Given the description of an element on the screen output the (x, y) to click on. 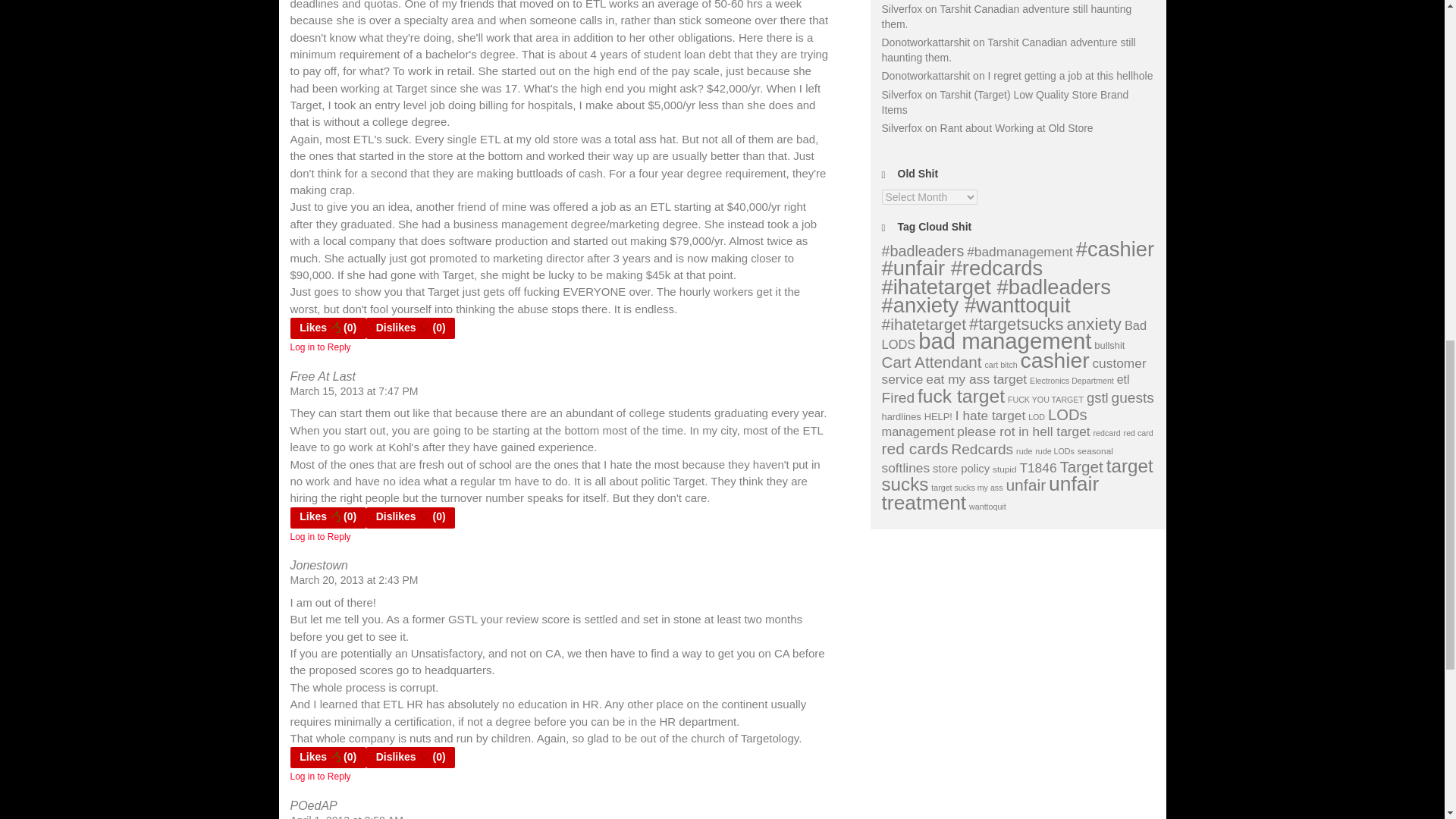
Log in to Reply (319, 347)
Tarshit Canadian adventure still haunting them. (1007, 49)
April 1, 2013 at 2:58 AM (346, 816)
bullshit (1109, 345)
I regret getting a job at this hellhole (1070, 75)
anxiety (1094, 323)
Rant about Working at Old Store (1016, 128)
Log in to Reply (319, 776)
Tarshit Canadian adventure still haunting them. (1005, 16)
Bad LODS (1013, 335)
bad management (1004, 340)
Log in to Reply (319, 536)
March 20, 2013 at 2:43 PM (353, 580)
March 15, 2013 at 7:47 PM (353, 390)
